Given the description of an element on the screen output the (x, y) to click on. 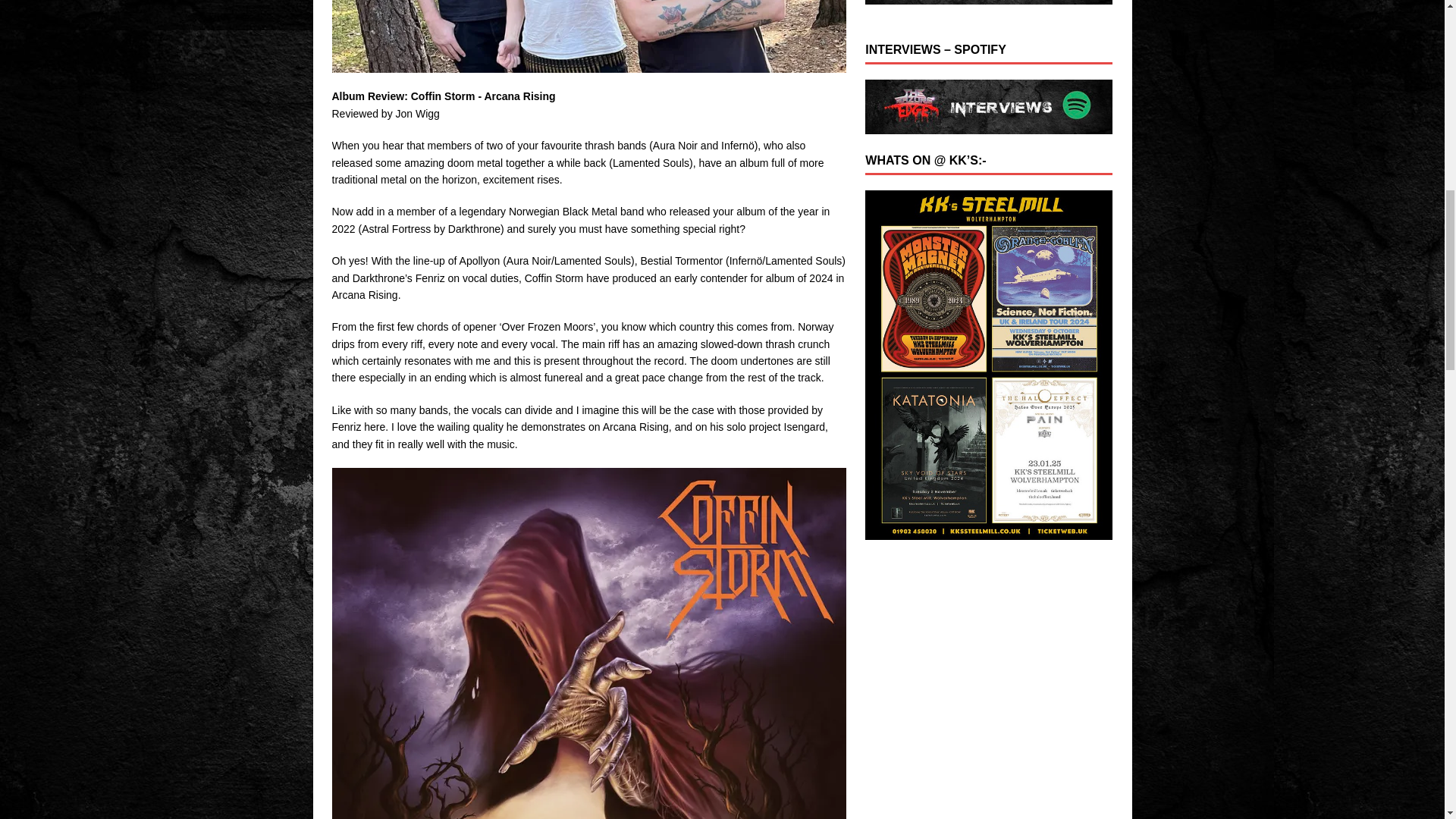
coffinstorm (588, 36)
